Given the description of an element on the screen output the (x, y) to click on. 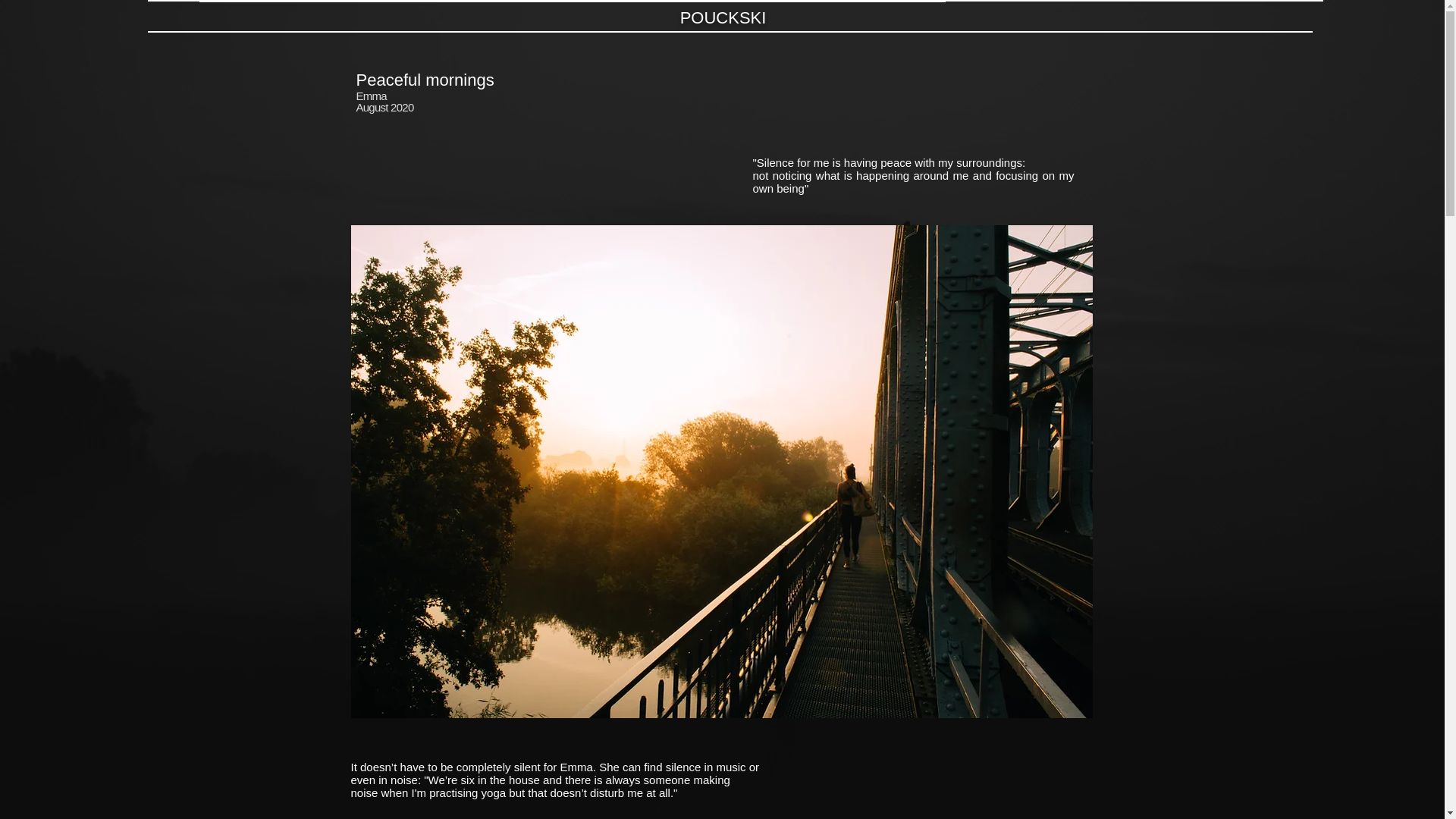
POUCKSKI (723, 17)
